Given the description of an element on the screen output the (x, y) to click on. 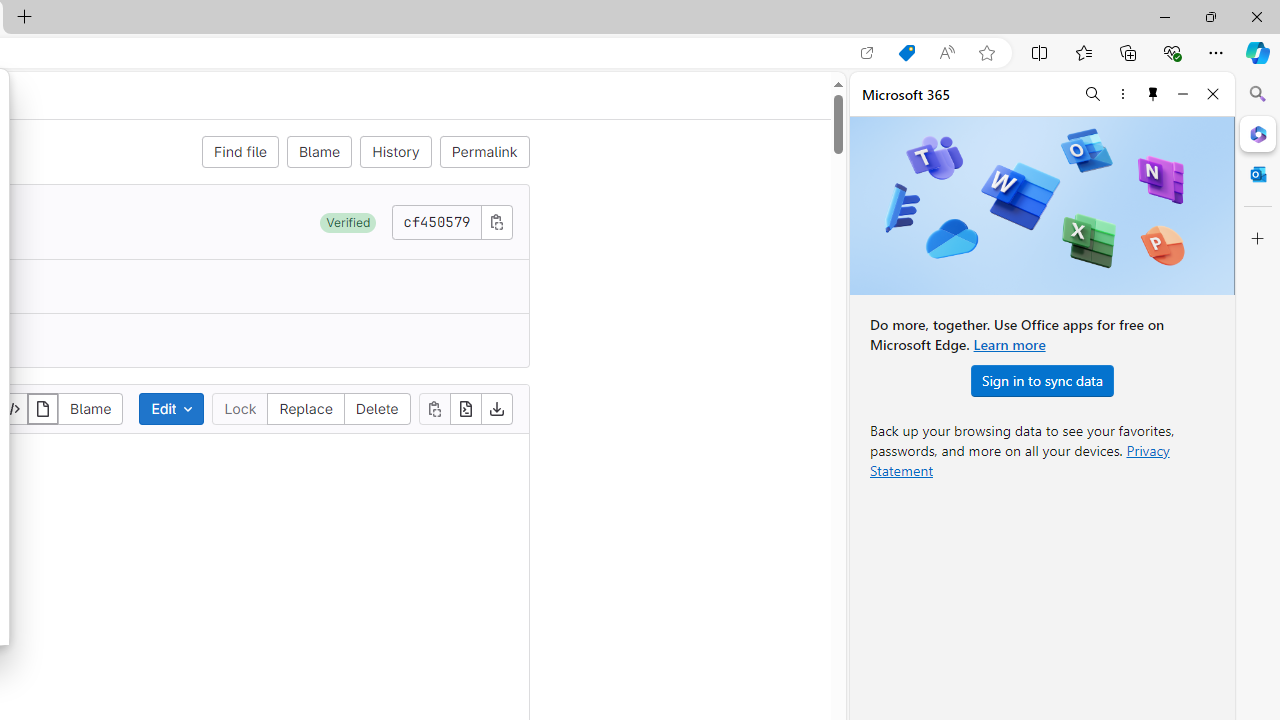
Open raw (465, 408)
Class: s16 gl-icon gl-button-icon  (496, 221)
Open in app (867, 53)
Download (496, 408)
Find file (240, 151)
Privacy Statement (1019, 460)
Permalink (484, 151)
History (395, 151)
Learn more about Microsoft Office. (1008, 344)
